Given the description of an element on the screen output the (x, y) to click on. 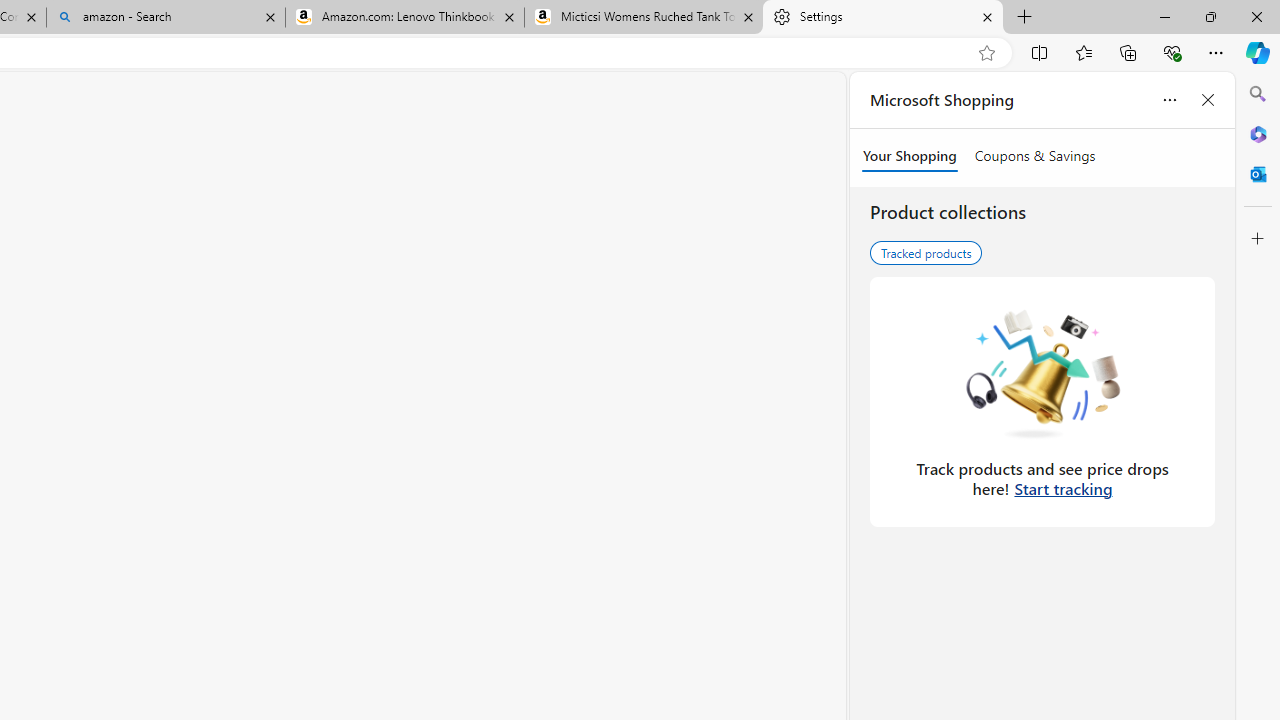
amazon - Search (166, 17)
